Given the description of an element on the screen output the (x, y) to click on. 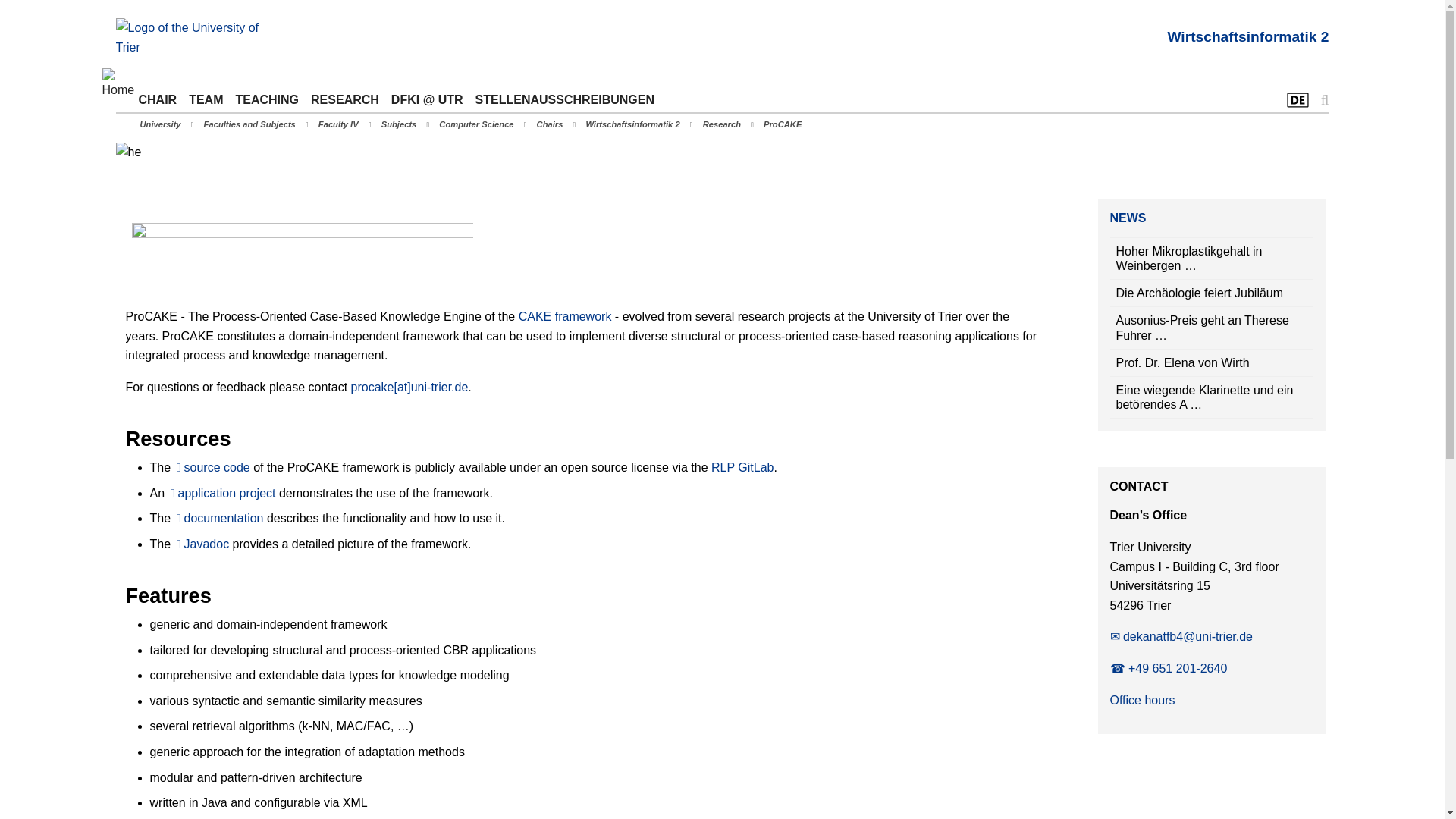
Wirtschaftsinformatik 2 (1247, 36)
Home (120, 86)
Startseite (190, 37)
